Given the description of an element on the screen output the (x, y) to click on. 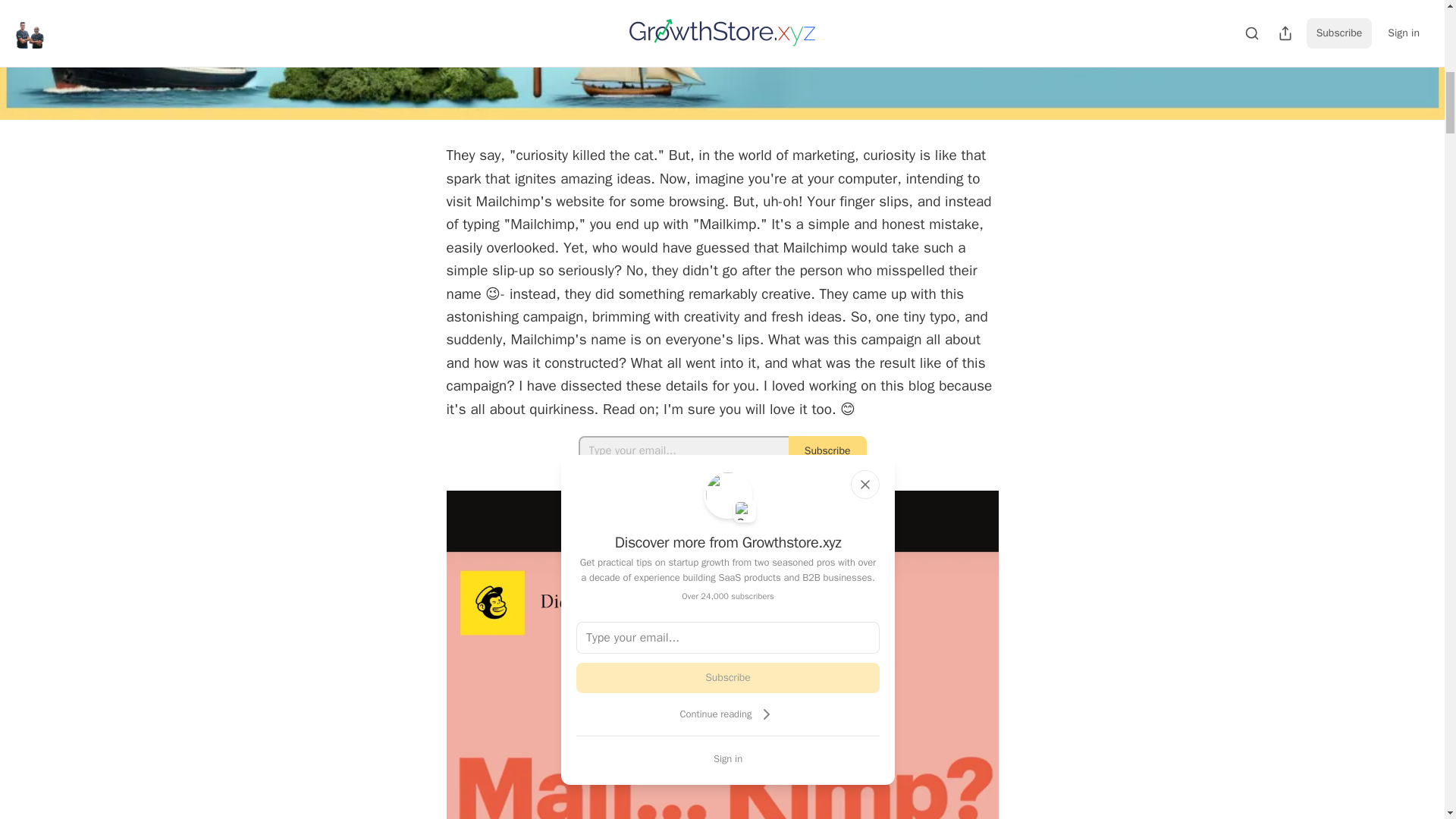
Sign in (727, 758)
Subscribe (727, 677)
Subscribe (827, 450)
